Given the description of an element on the screen output the (x, y) to click on. 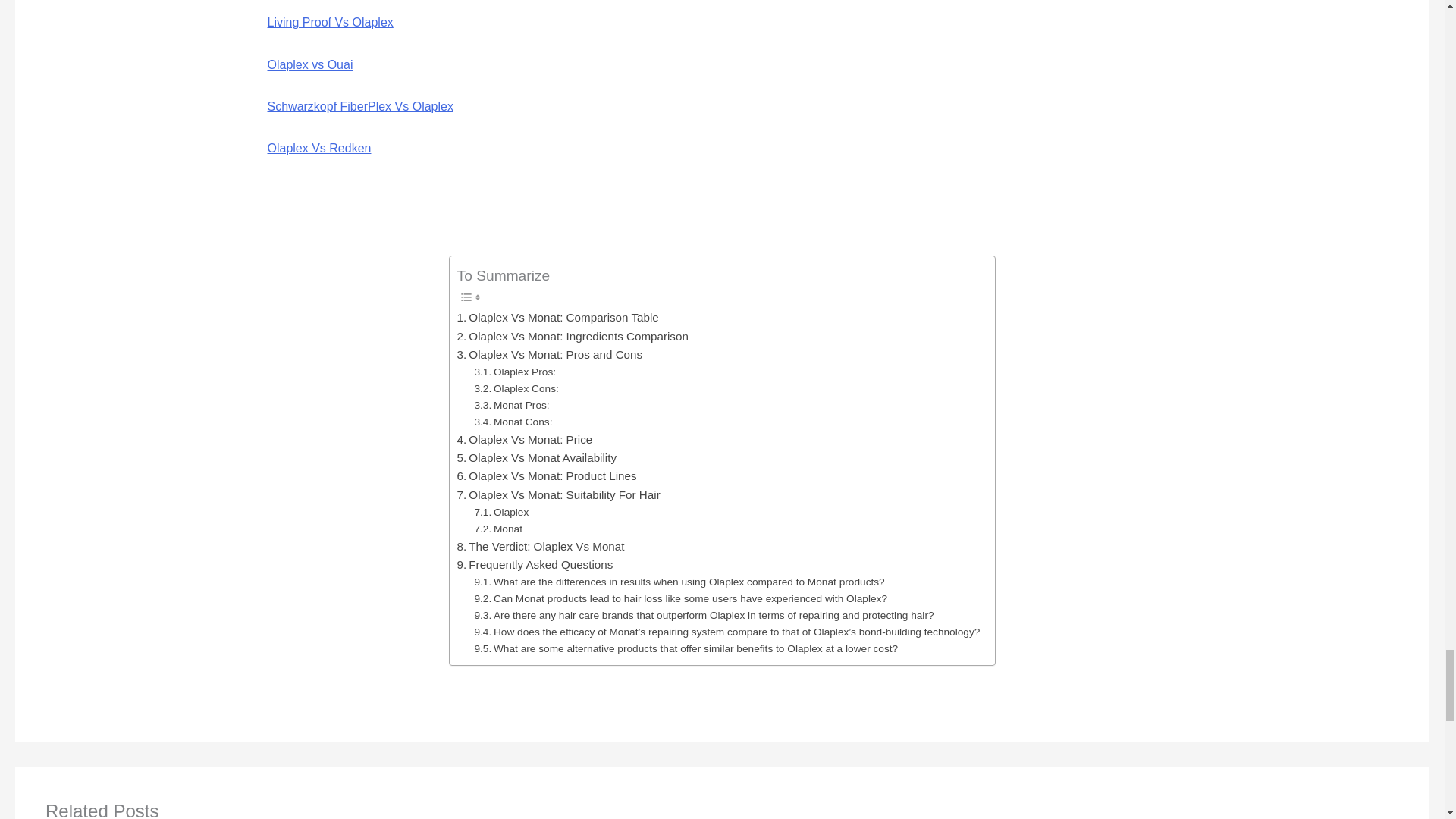
Monat (498, 528)
Olaplex Vs Monat: Price (524, 439)
Monat Cons: (512, 422)
Olaplex Vs Monat: Ingredients Comparison (572, 336)
Olaplex Vs Monat: Product Lines (547, 475)
Olaplex Vs Monat Availability (536, 457)
Olaplex Vs Monat: Pros and Cons (550, 354)
Olaplex (501, 512)
Monat Pros: (511, 405)
Olaplex Pros: (515, 371)
